Given the description of an element on the screen output the (x, y) to click on. 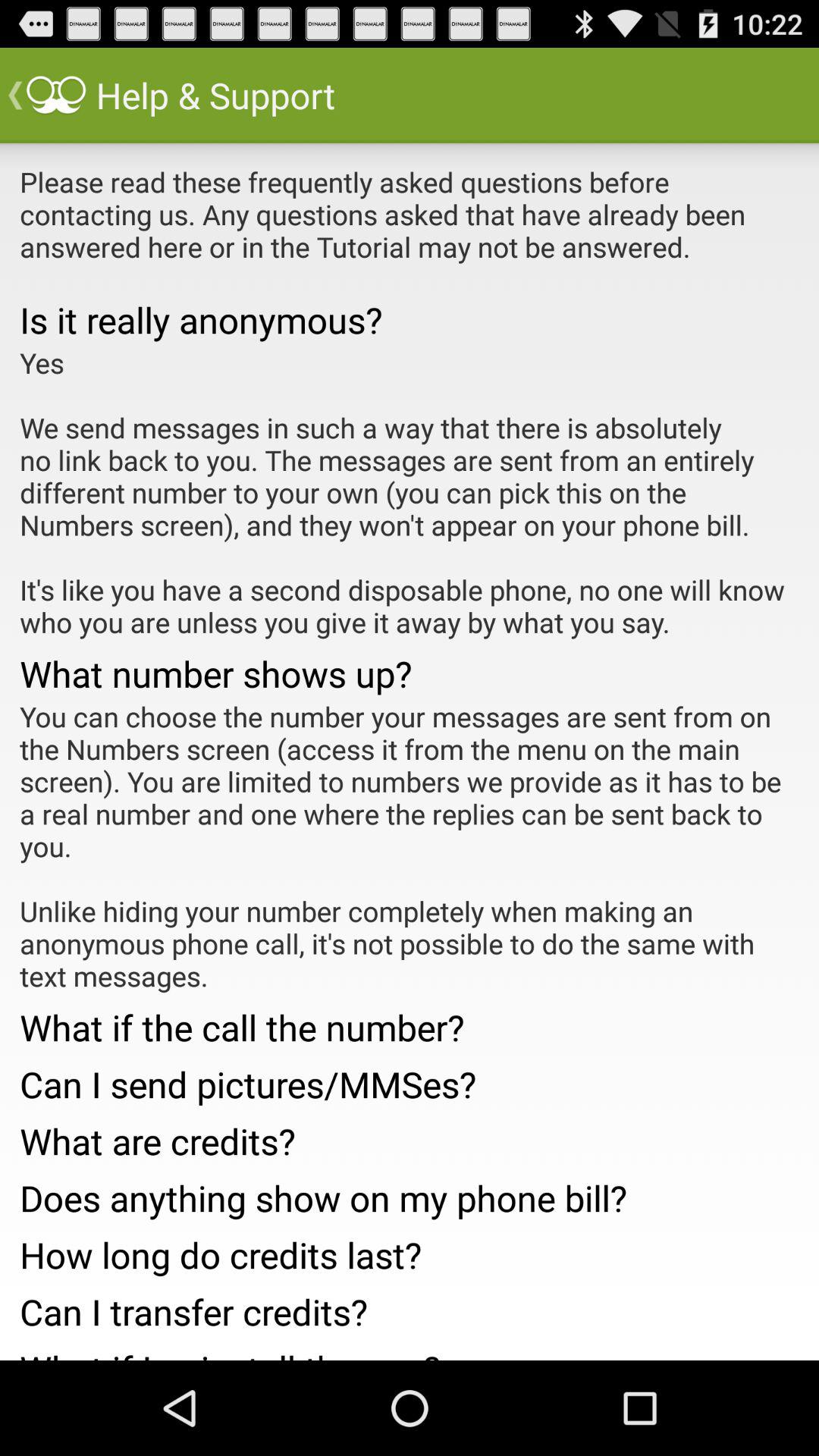
choose the item above the how long do (409, 1193)
